Given the description of an element on the screen output the (x, y) to click on. 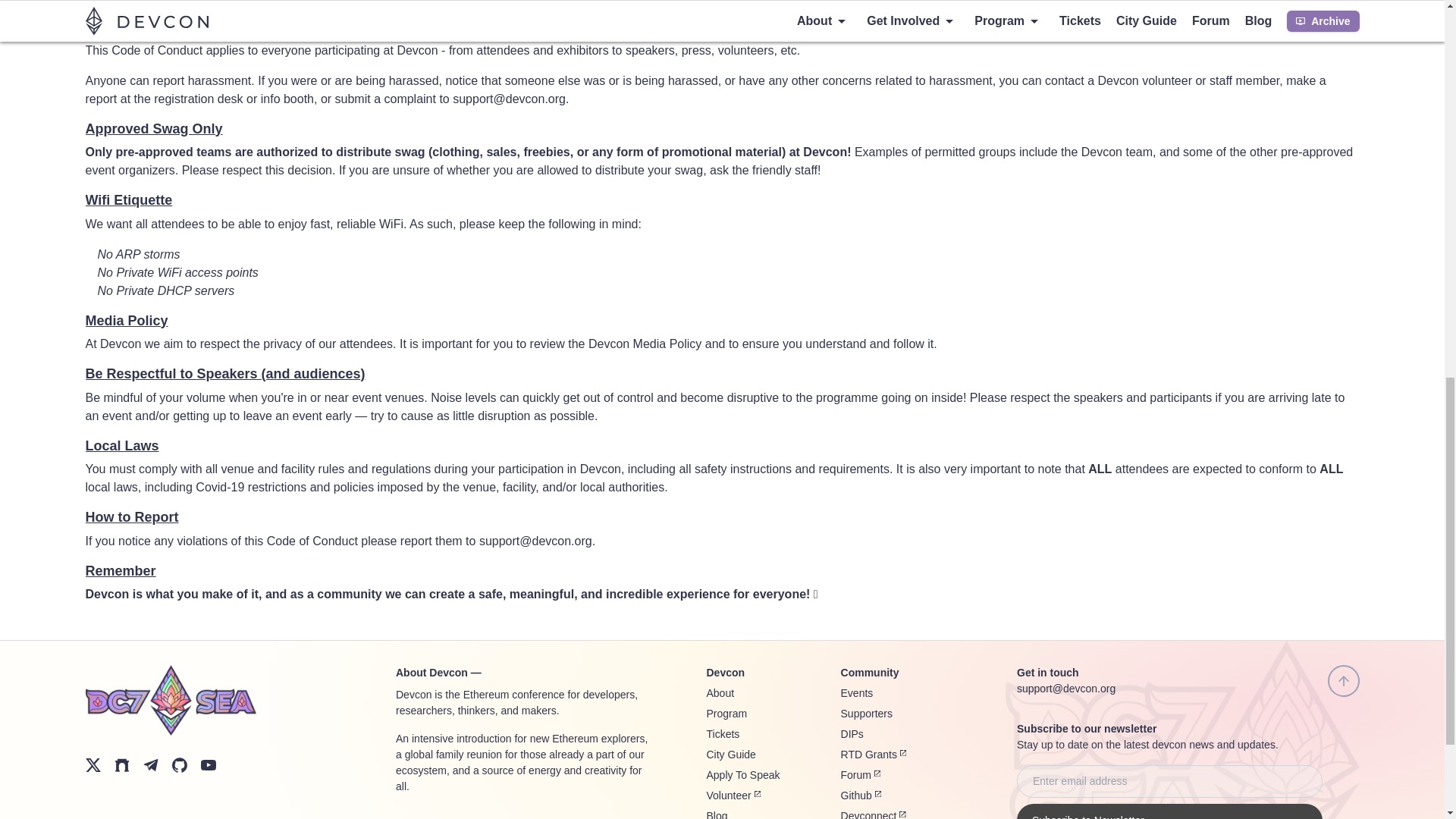
Supporters (866, 713)
About (720, 693)
Program (727, 713)
Events (857, 693)
DIPs (852, 734)
City Guide (730, 754)
Apply To Speak (743, 775)
RTD Grants  (874, 754)
Tickets (722, 734)
Volunteer  (733, 795)
Blog (717, 814)
